Given the description of an element on the screen output the (x, y) to click on. 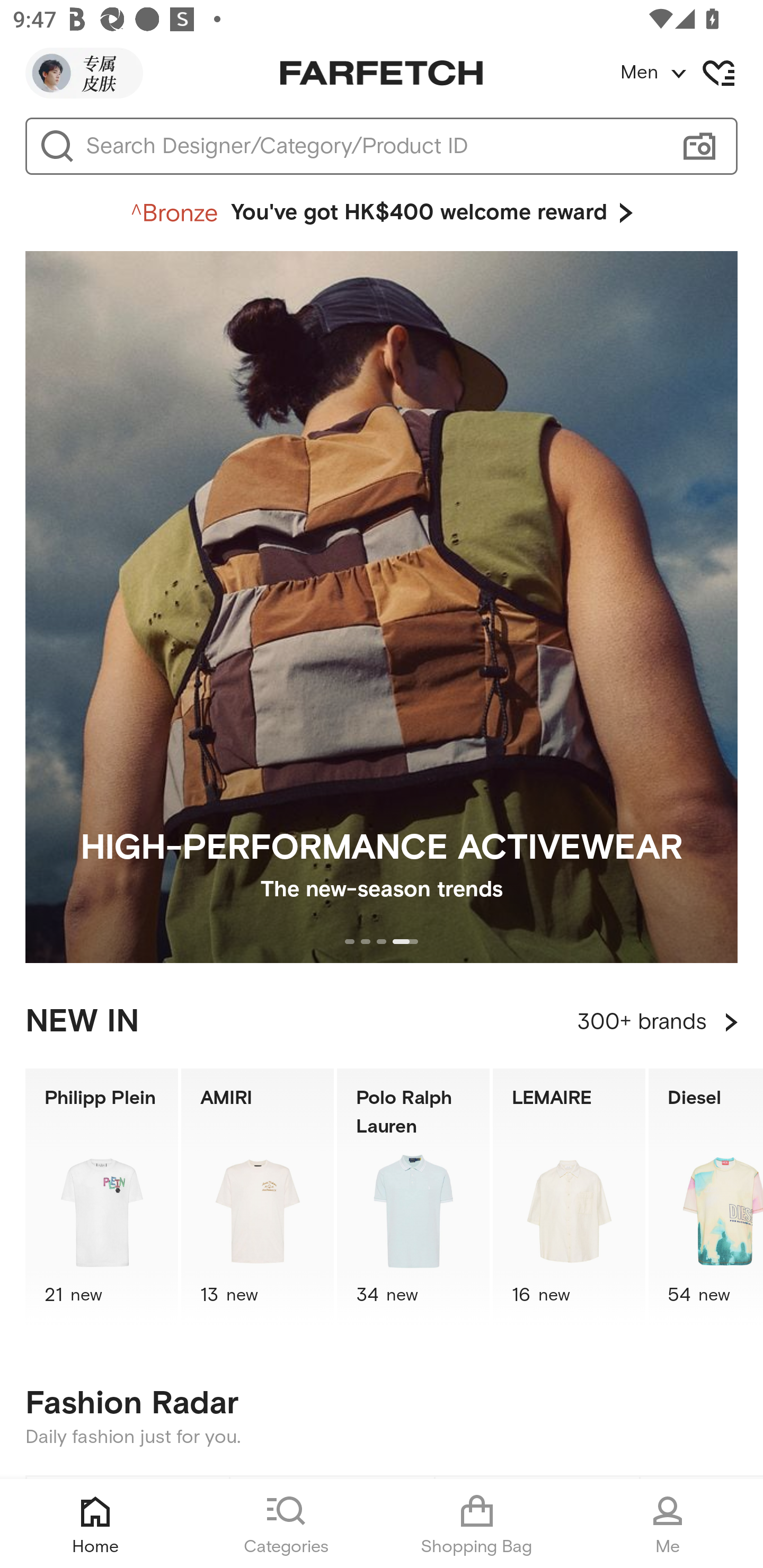
Men (691, 72)
Search Designer/Category/Product ID (373, 146)
You've got HK$400 welcome reward (381, 213)
NEW IN 300+ brands (381, 1021)
Philipp Plein 21  new (101, 1196)
AMIRI 13  new (257, 1196)
Polo Ralph Lauren 34  new (413, 1196)
LEMAIRE 16  new (568, 1196)
Diesel 54  new (705, 1196)
Categories (285, 1523)
Shopping Bag (476, 1523)
Me (667, 1523)
